Given the description of an element on the screen output the (x, y) to click on. 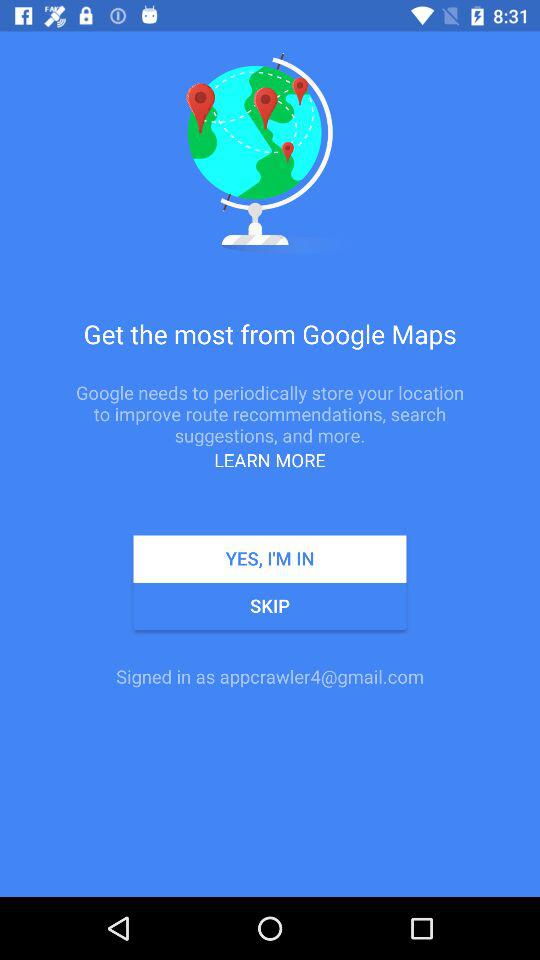
turn off learn more icon (269, 459)
